Given the description of an element on the screen output the (x, y) to click on. 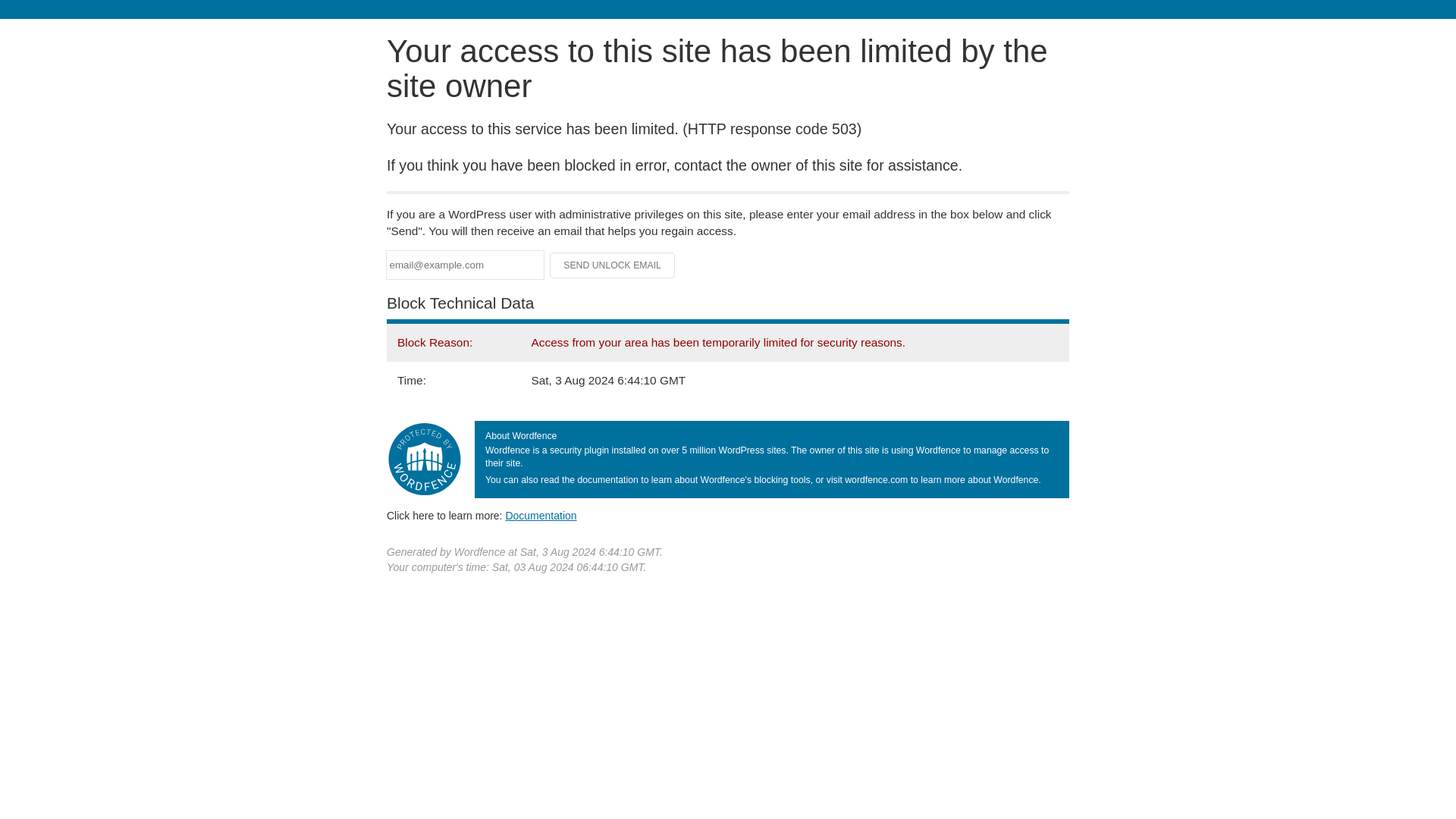
Send Unlock Email (612, 265)
Send Unlock Email (612, 265)
Documentation (540, 515)
